Given the description of an element on the screen output the (x, y) to click on. 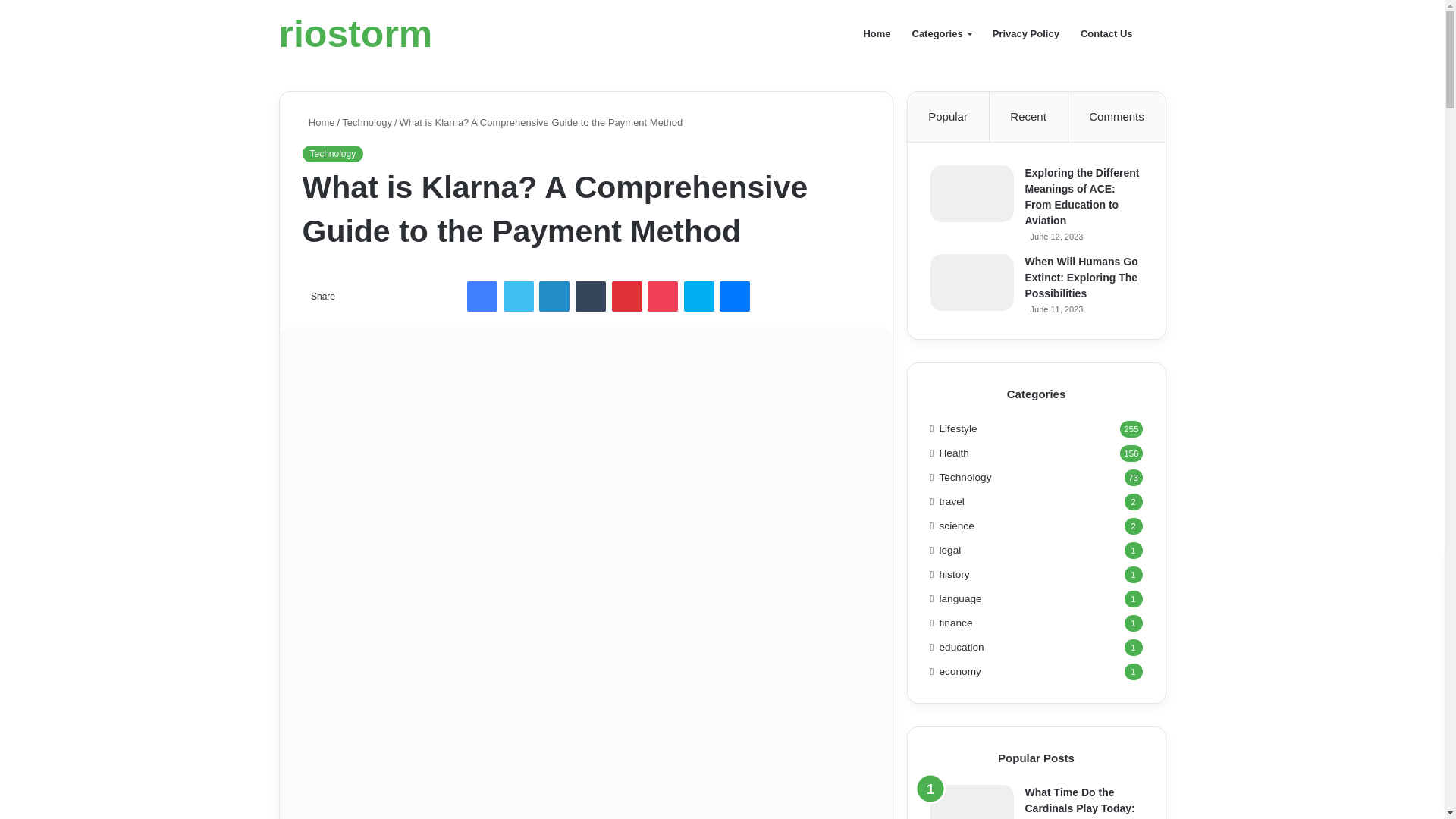
Contact Us (1106, 33)
Skype (699, 296)
Categories (941, 33)
LinkedIn (553, 296)
Twitter (518, 296)
Twitter (518, 296)
Pocket (662, 296)
Pinterest (626, 296)
Pinterest (626, 296)
riostorm (355, 34)
Facebook (482, 296)
Home (317, 122)
Messenger (734, 296)
Pocket (662, 296)
LinkedIn (553, 296)
